Given the description of an element on the screen output the (x, y) to click on. 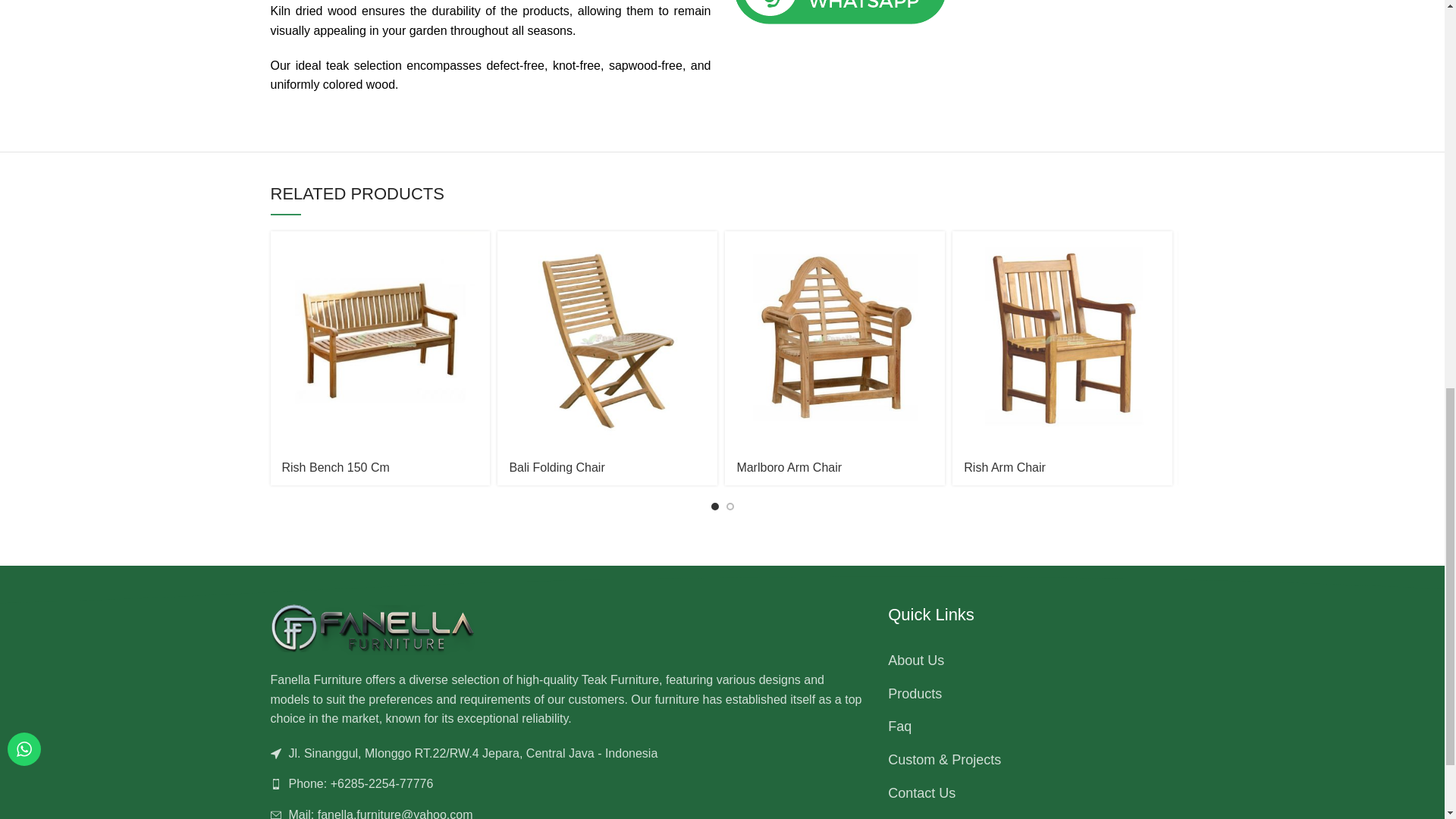
wd-envelope-light (275, 814)
wd-phone-light (275, 783)
wd-cursor-light (275, 753)
